Given the description of an element on the screen output the (x, y) to click on. 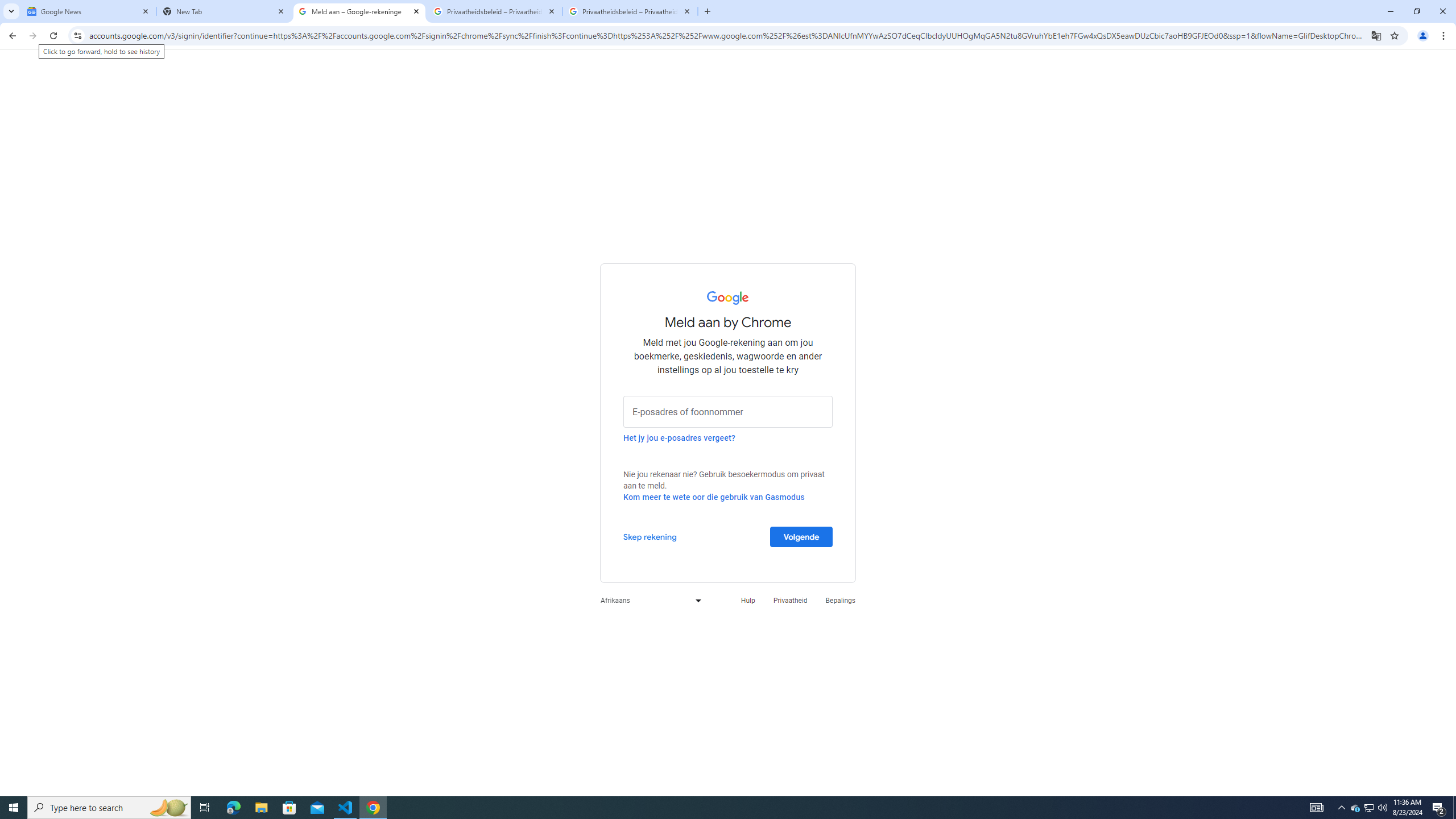
Het jy jou e-posadres vergeet? (678, 437)
New Tab (224, 11)
Bepalings (840, 600)
Skep rekening (649, 536)
Volgende (801, 536)
Afrikaans (647, 600)
